Given the description of an element on the screen output the (x, y) to click on. 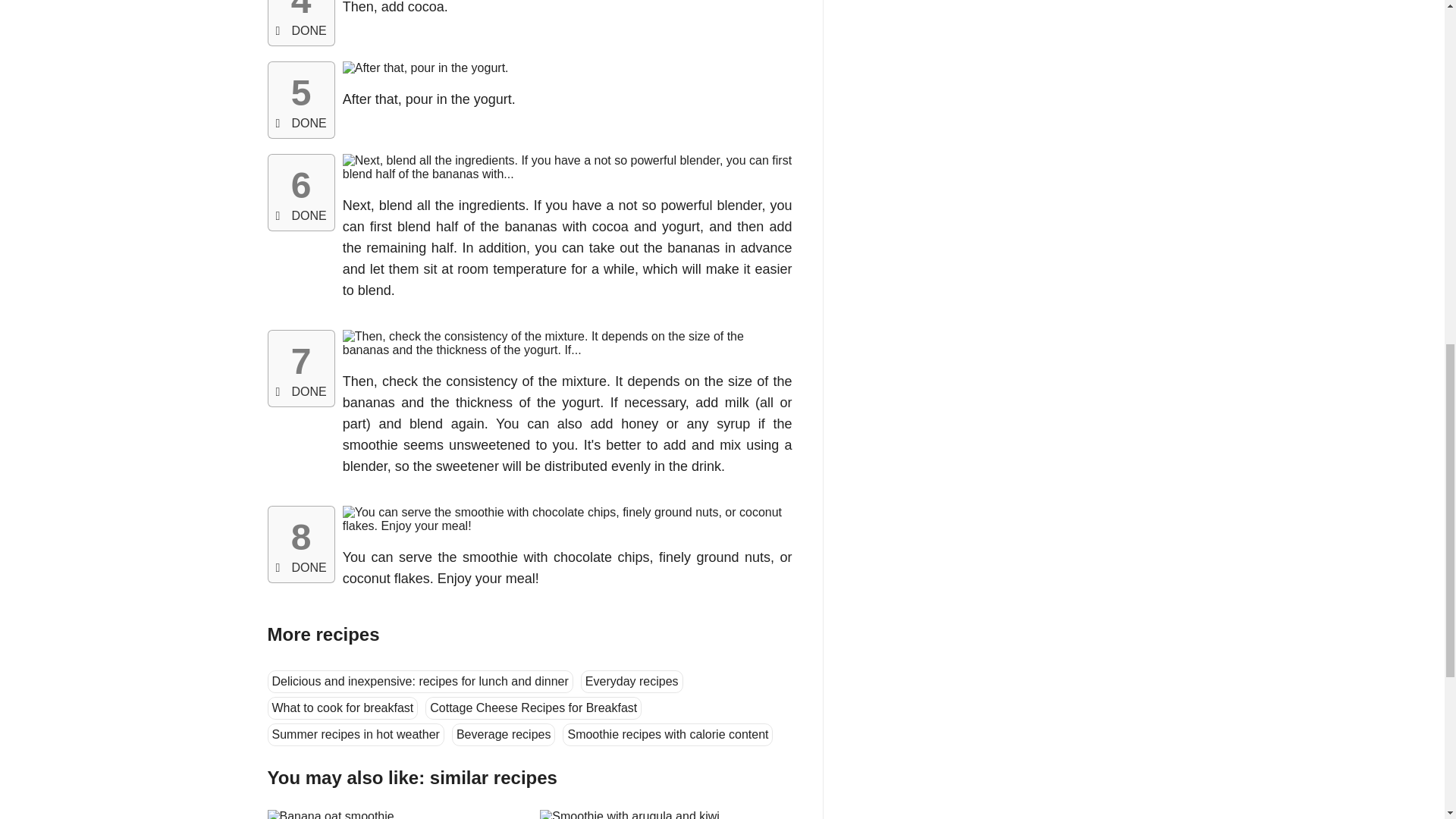
Delicious and inexpensive: recipes for lunch and dinner (419, 681)
Summer recipes in hot weather (355, 734)
Everyday recipes (631, 681)
Cottage Cheese Recipes for Breakfast (533, 707)
What to cook for breakfast (341, 707)
